Given the description of an element on the screen output the (x, y) to click on. 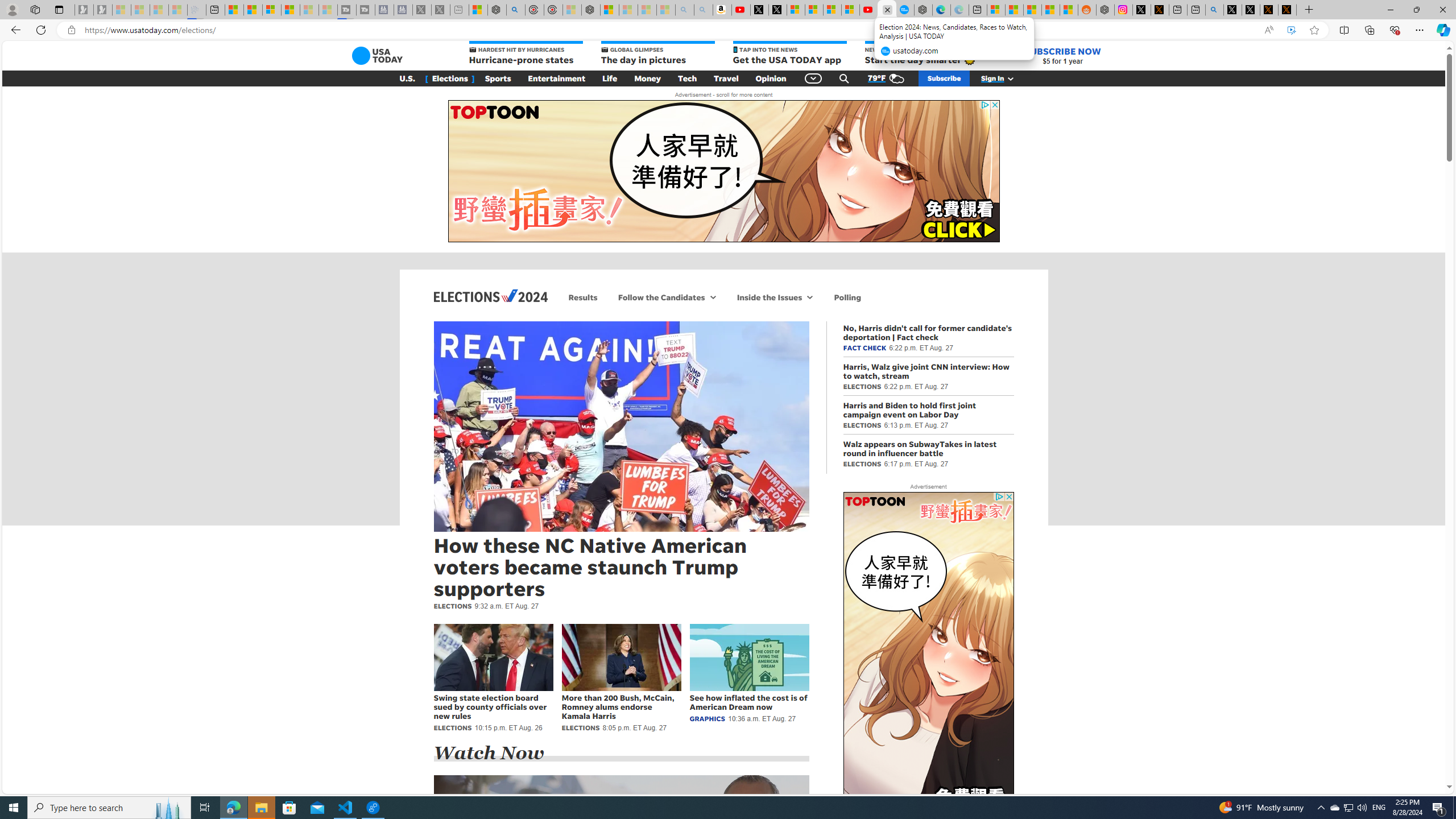
X - Sleeping (440, 9)
Life (609, 78)
Class: gnt_n_us_a_svg (1008, 78)
Class: privacy_out (998, 496)
[ Elections ] (449, 78)
Sign In (1002, 78)
GitHub (@github) / X (1251, 9)
Shanghai, China Weather trends | Microsoft Weather (1069, 9)
